Given the description of an element on the screen output the (x, y) to click on. 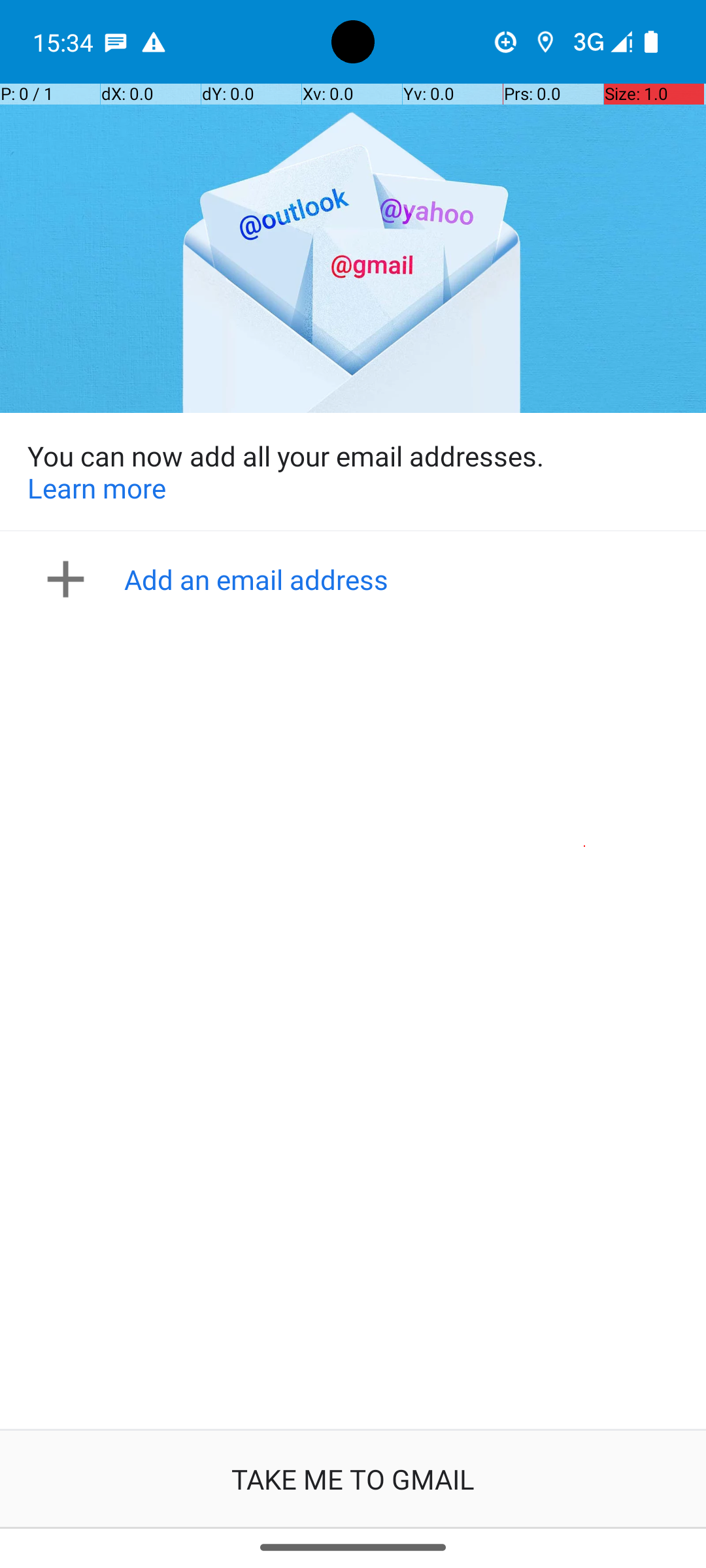
You can now add all your email addresses. Learn more Element type: android.widget.TextView (352, 471)
TAKE ME TO GMAIL Element type: android.widget.TextView (353, 1478)
Add an email address Element type: android.widget.TextView (356, 579)
Data Saver is on Element type: android.widget.ImageView (505, 41)
Location requests active Element type: android.widget.ImageView (545, 41)
